Given the description of an element on the screen output the (x, y) to click on. 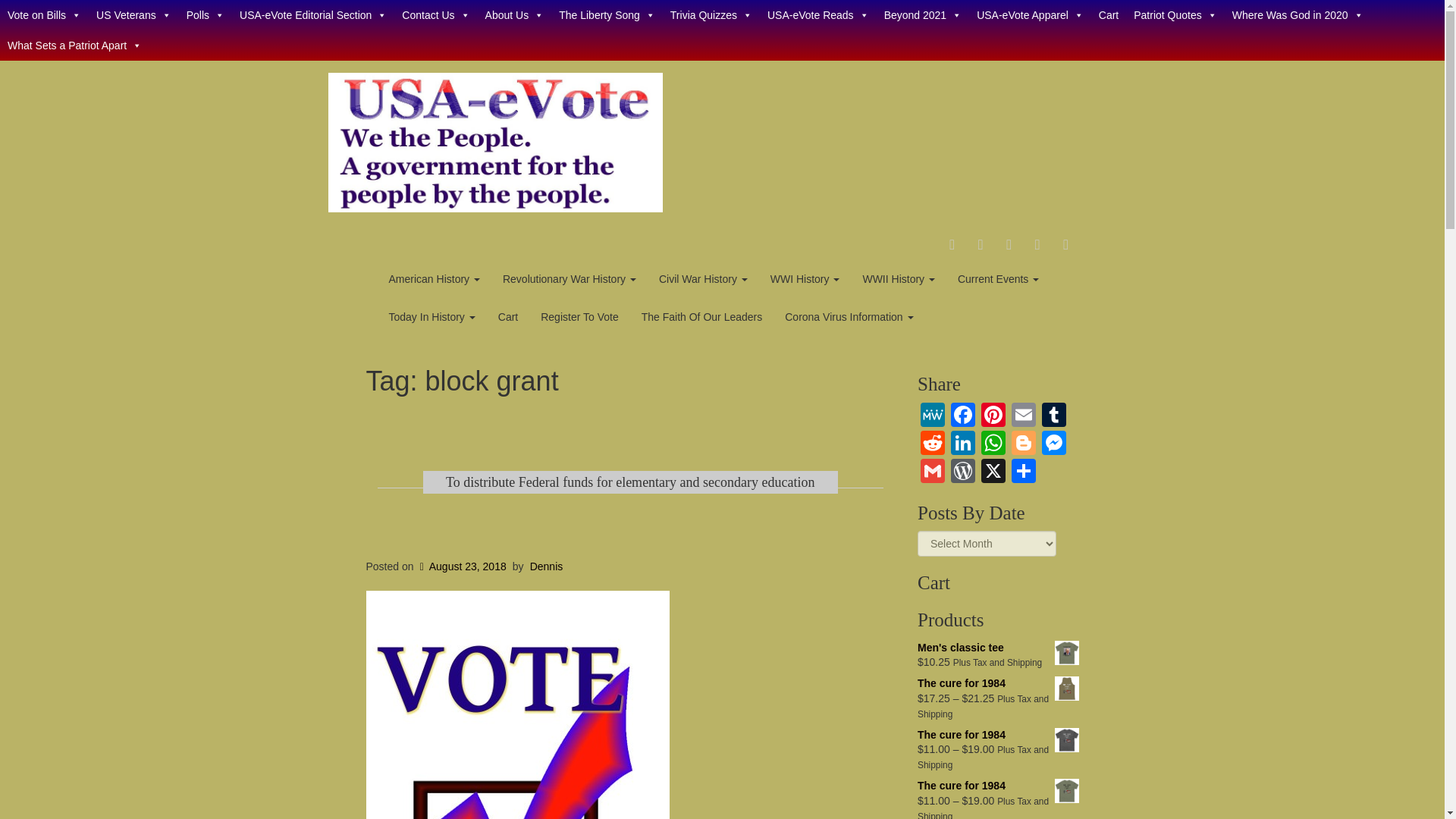
USA-eVote Editorial Section (312, 15)
Polls (205, 15)
Vote on Bills (44, 15)
USA-eVote Apparel (1029, 15)
US Veterans (133, 15)
